Given the description of an element on the screen output the (x, y) to click on. 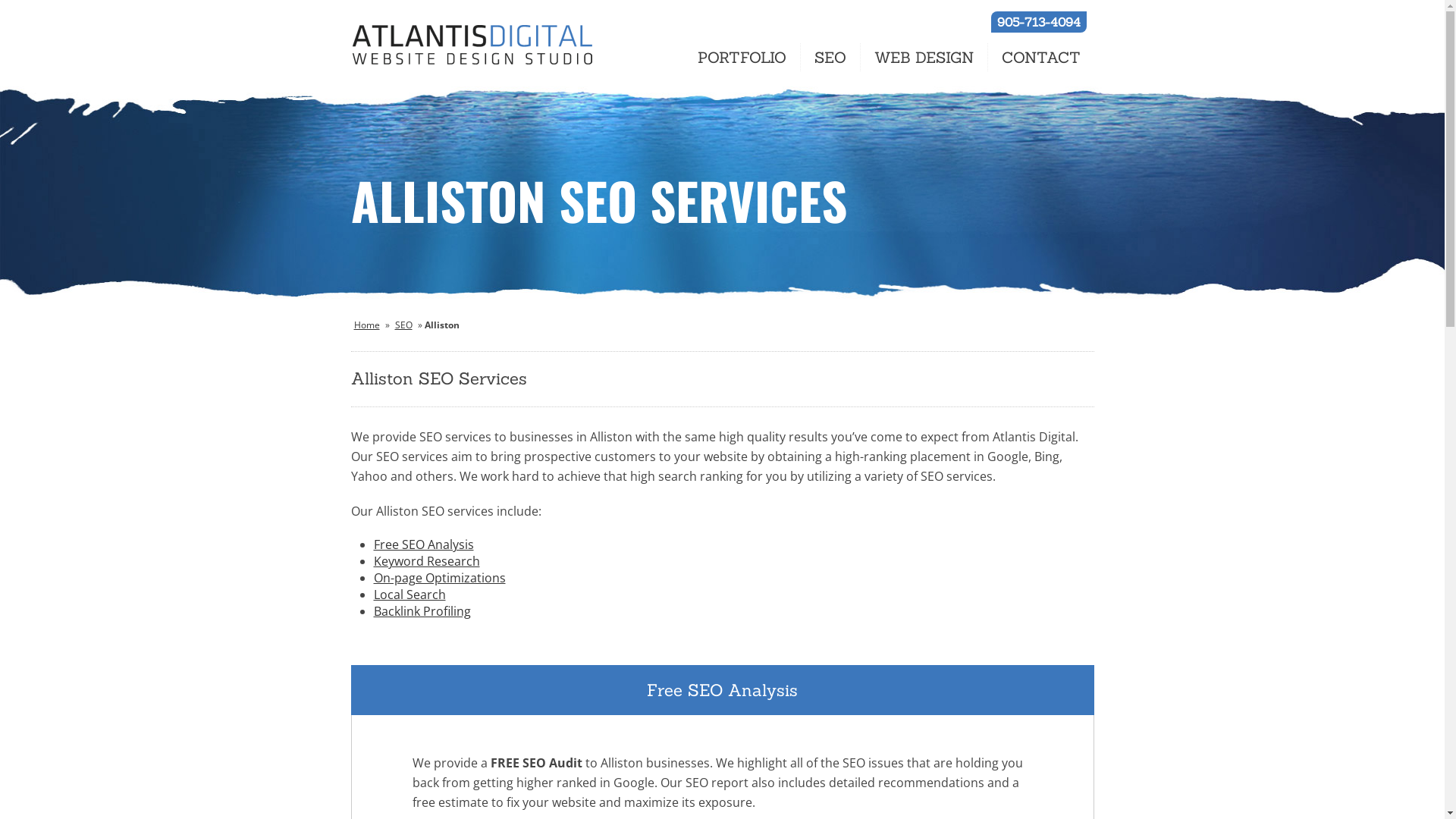
SEO Element type: text (830, 57)
PORTFOLIO Element type: text (742, 57)
Keyword Research Element type: text (426, 560)
WEB DESIGN Element type: text (923, 57)
CONTACT Element type: text (1040, 57)
Atlantis Digital Element type: hover (471, 44)
Free SEO Analysis Element type: text (423, 544)
On-page Optimizations Element type: text (439, 577)
Local Search Element type: text (409, 594)
SEO Element type: text (402, 324)
905-713-4094 Element type: text (1037, 21)
Home Element type: text (366, 324)
Backlink Profiling Element type: text (421, 610)
